Given the description of an element on the screen output the (x, y) to click on. 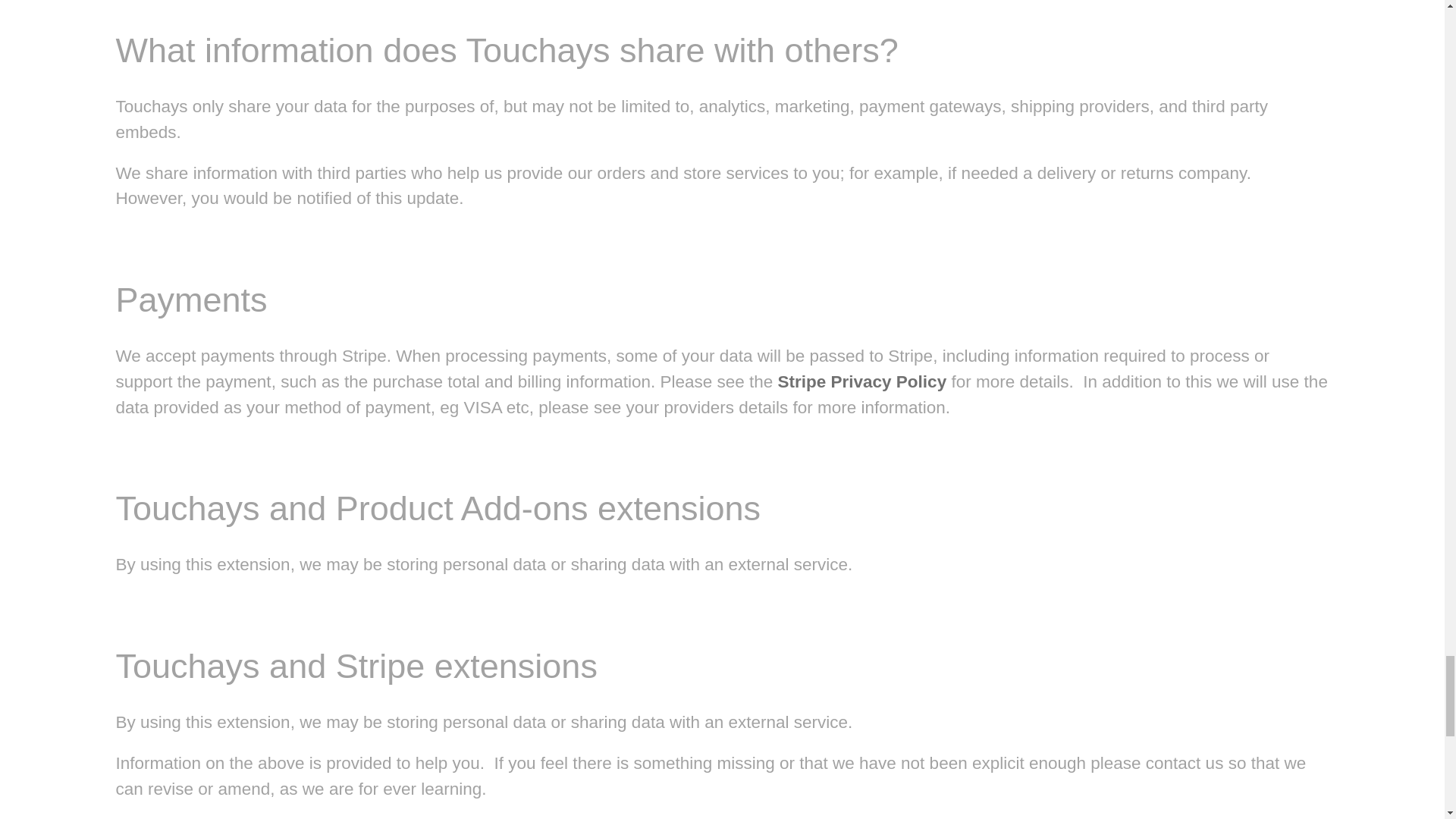
Stripe Privacy Policy (862, 381)
